Given the description of an element on the screen output the (x, y) to click on. 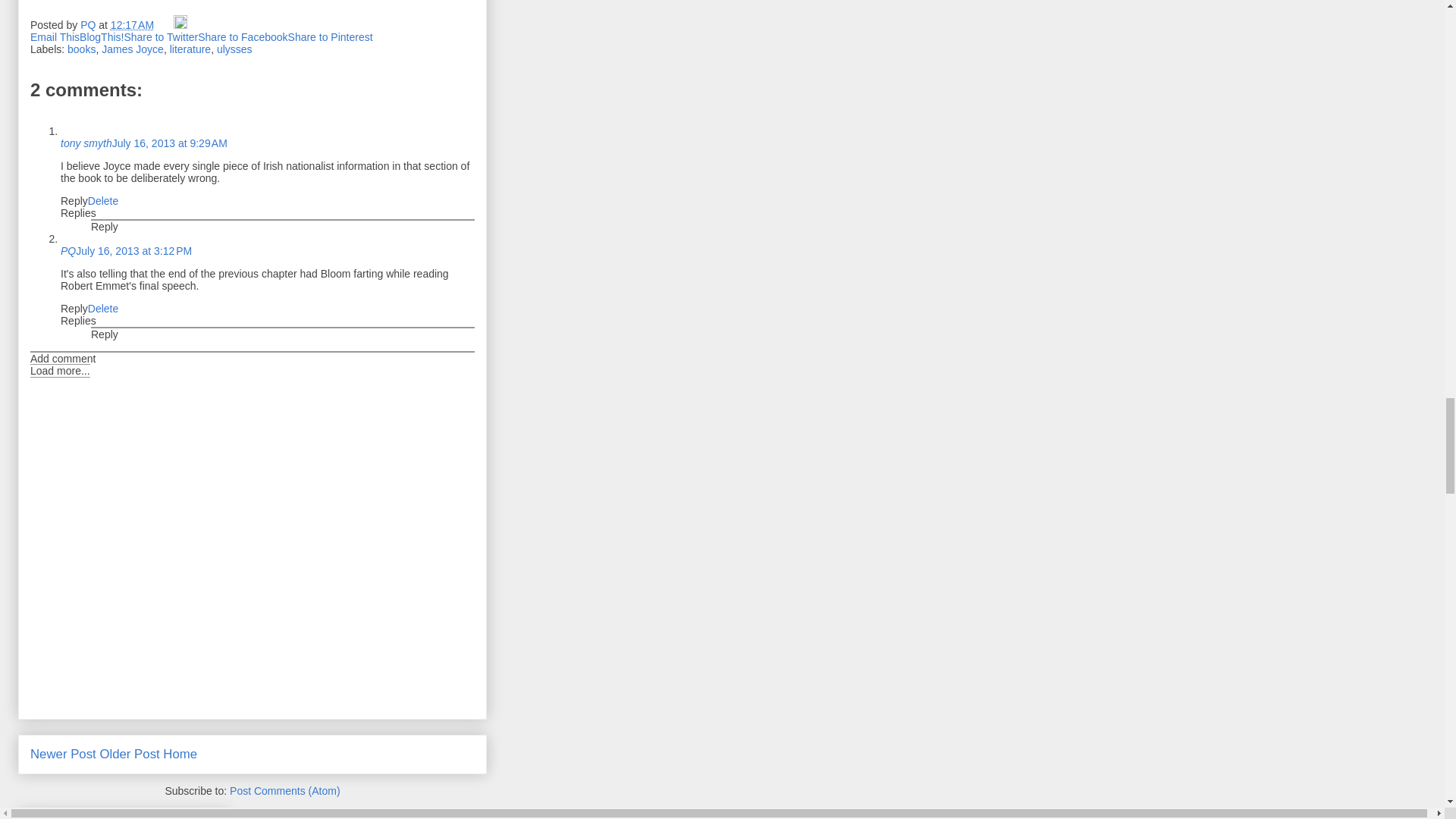
tony smyth (86, 143)
Reply (74, 308)
Share to Pinterest (330, 37)
Share to Pinterest (330, 37)
Email This (55, 37)
Replies (78, 320)
BlogThis! (101, 37)
Reply (103, 334)
Share to Facebook (242, 37)
Delete (102, 200)
James Joyce (132, 49)
Email This (55, 37)
Newer Post (63, 753)
